Given the description of an element on the screen output the (x, y) to click on. 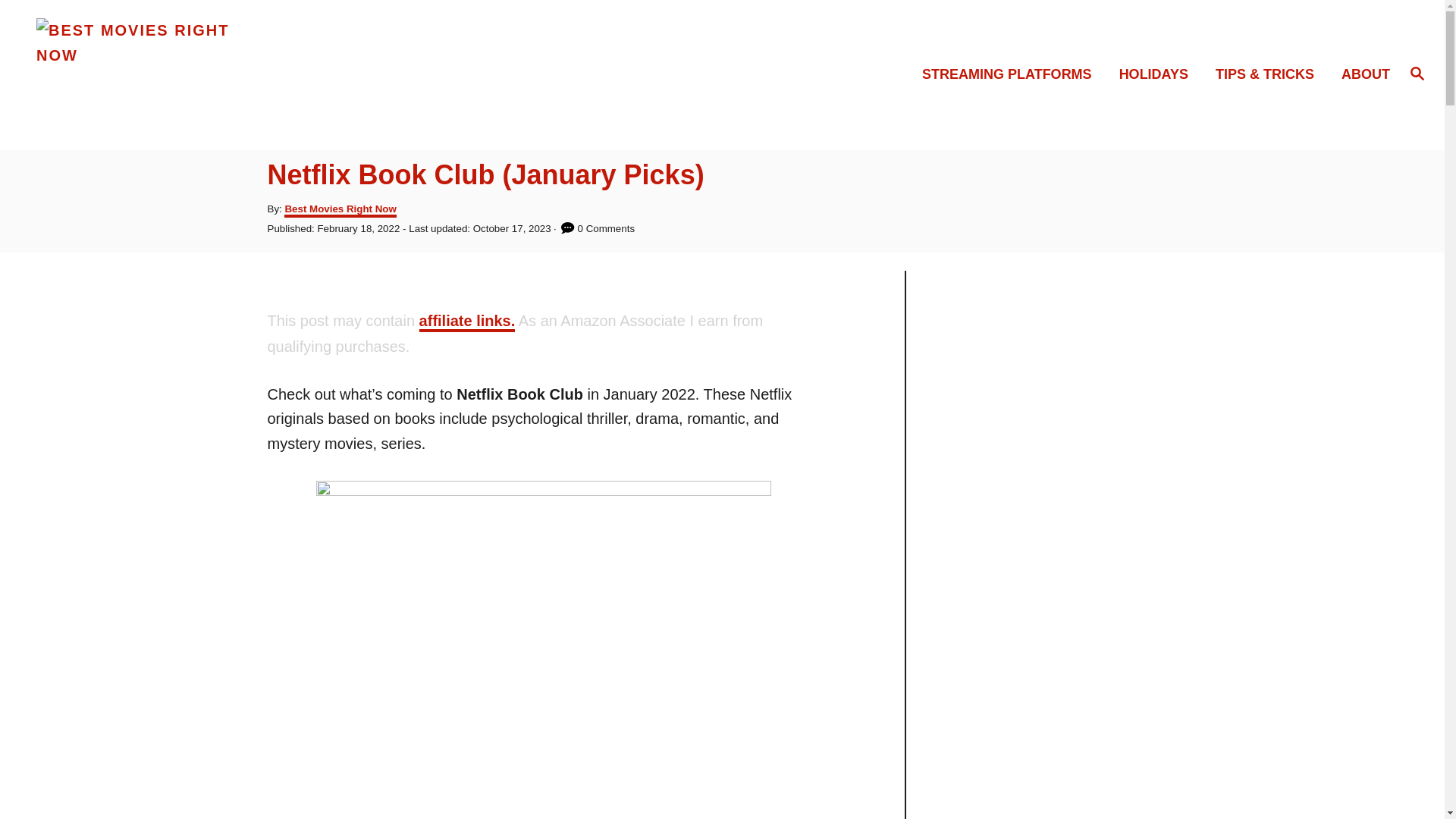
affiliate links. (467, 322)
STREAMING PLATFORMS (1010, 74)
Magnifying Glass (1416, 73)
ABOUT (1361, 74)
Best Movies Right Now (339, 210)
Best Movies Right Now (204, 74)
HOLIDAYS (1158, 74)
